Given the description of an element on the screen output the (x, y) to click on. 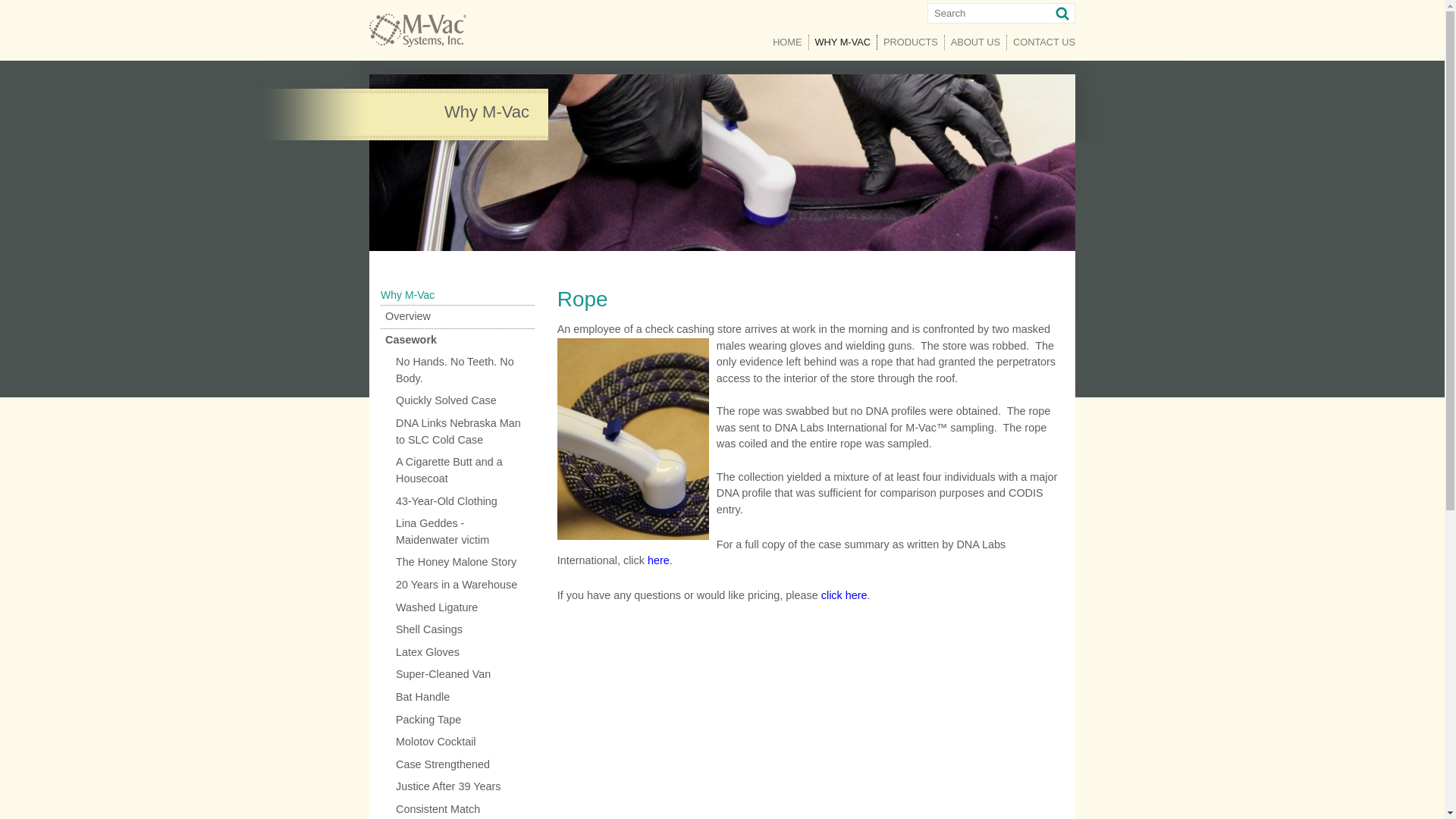
Shell Casings (457, 630)
Quickly Solved Case (457, 400)
Washed Ligature (457, 608)
Casework (457, 340)
Consistent Match (457, 808)
DNA Links Nebraska Man to SLC Cold Case (457, 431)
Case Summary - Rope (658, 560)
Packing Tape (457, 720)
The Honey Malone Story (457, 562)
Latex Gloves (457, 652)
